Given the description of an element on the screen output the (x, y) to click on. 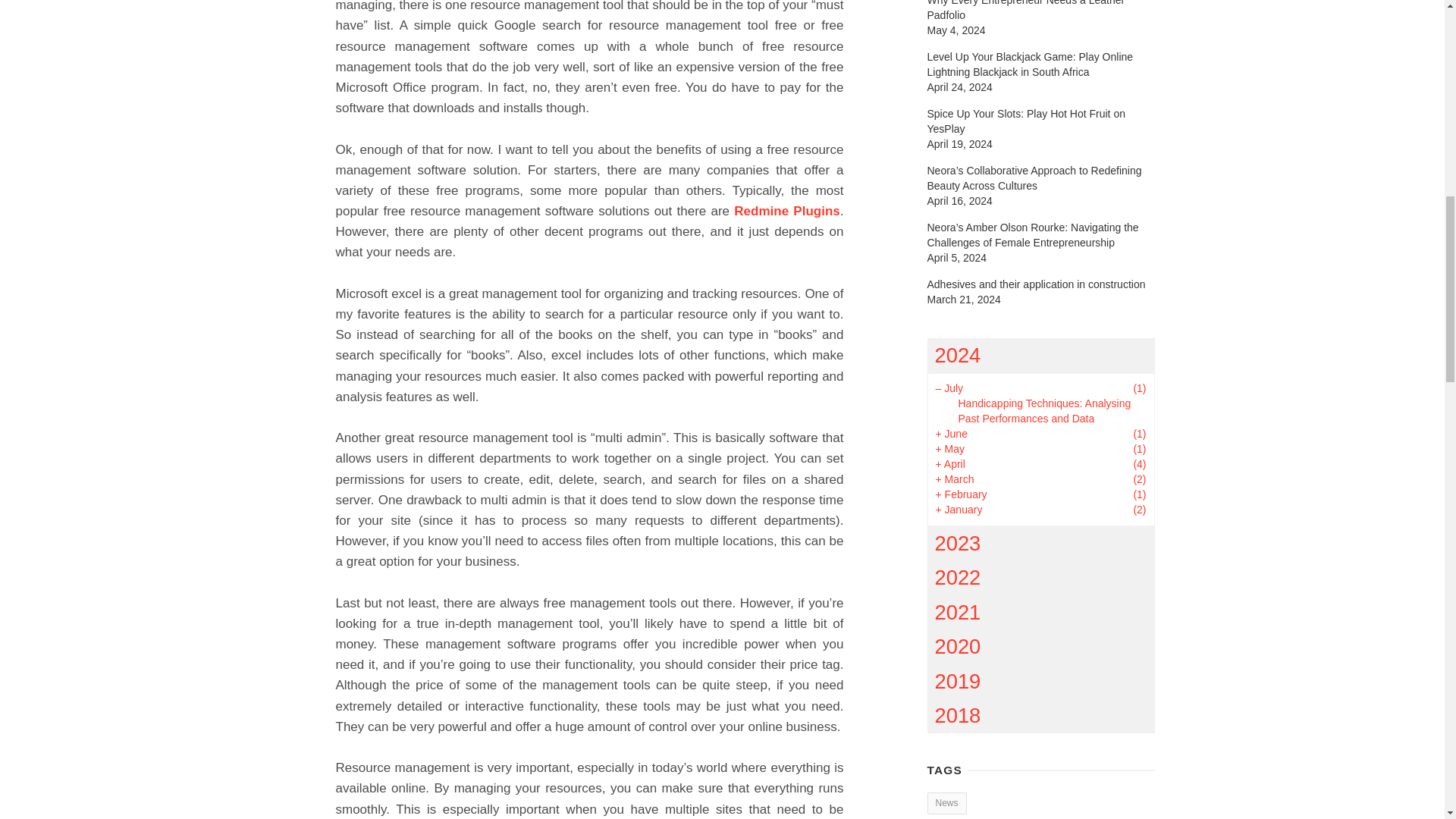
Redmine Plugins (786, 210)
